Given the description of an element on the screen output the (x, y) to click on. 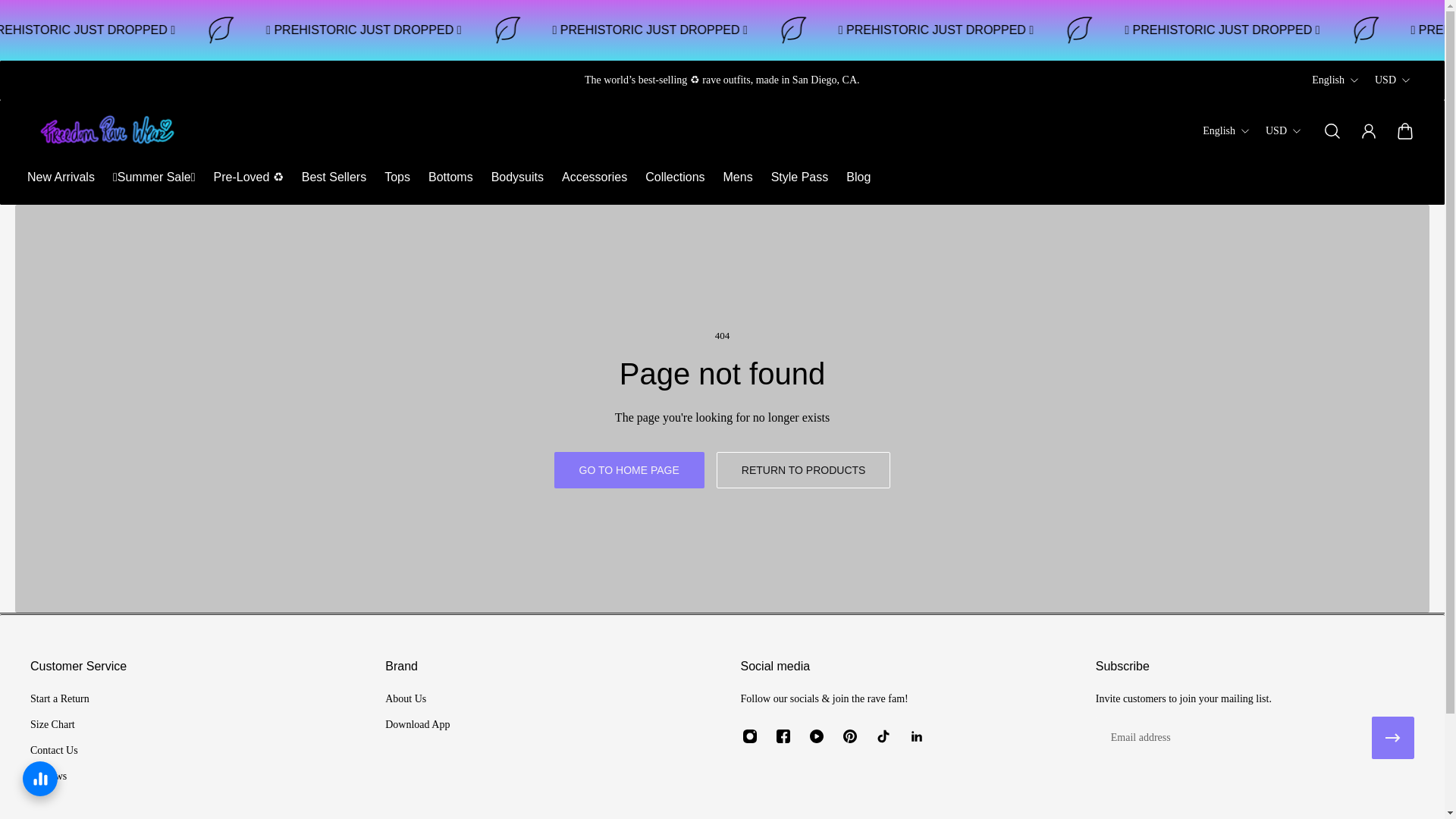
Accessories (594, 177)
Bodysuits (517, 177)
New Arrivals (60, 177)
Start a Return (59, 699)
RETURN TO PRODUCTS (803, 470)
Size Chart (59, 724)
Blog (858, 177)
SKIP TO CONTENT (24, 21)
Mens (737, 177)
Style Pass (799, 177)
Collections (674, 177)
Download App (417, 724)
Bottoms (450, 177)
Contact Us (59, 750)
Tops (397, 177)
